Given the description of an element on the screen output the (x, y) to click on. 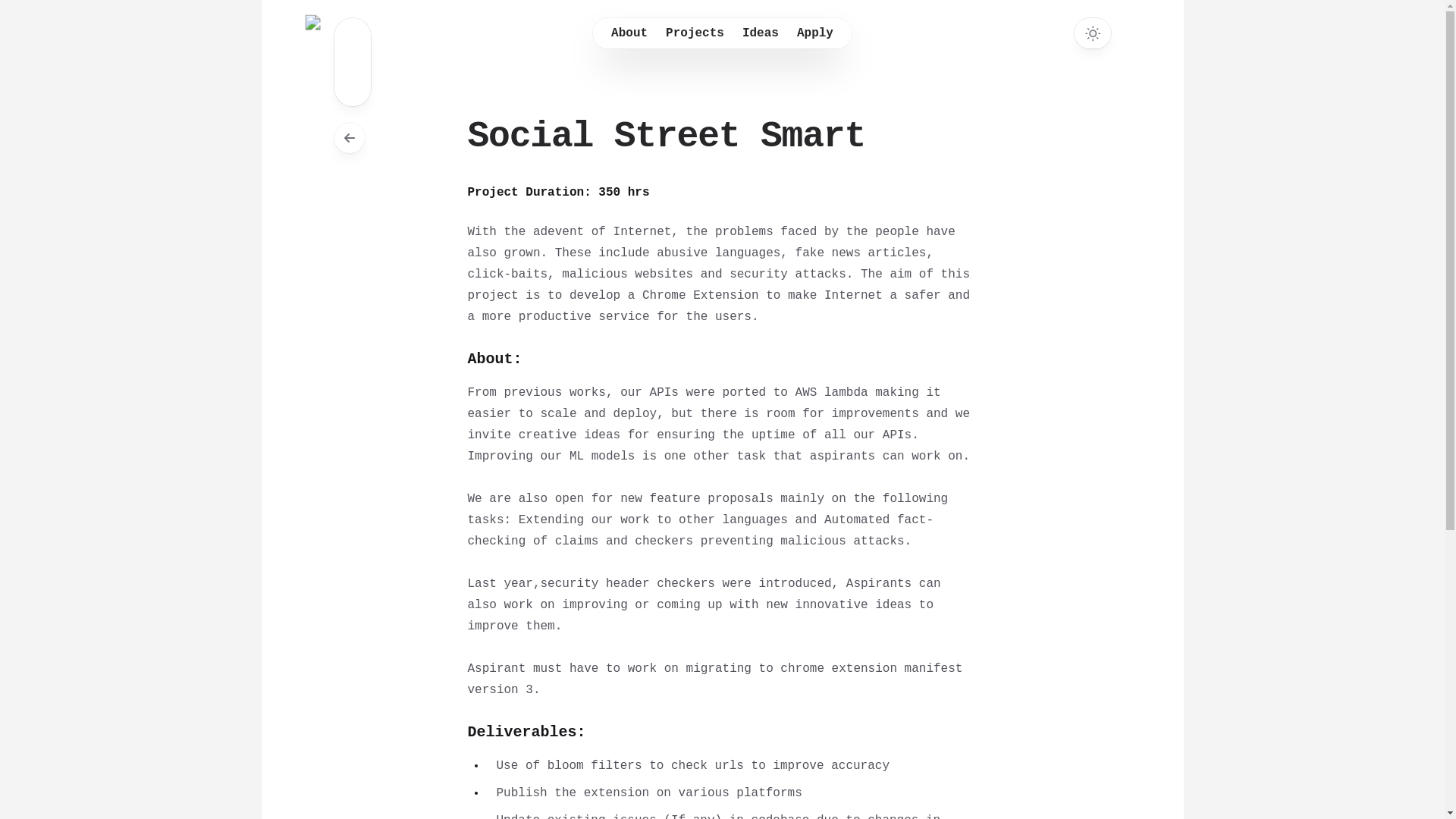
Ideas (760, 33)
Apply (815, 33)
About (629, 33)
Projects (694, 33)
